Given the description of an element on the screen output the (x, y) to click on. 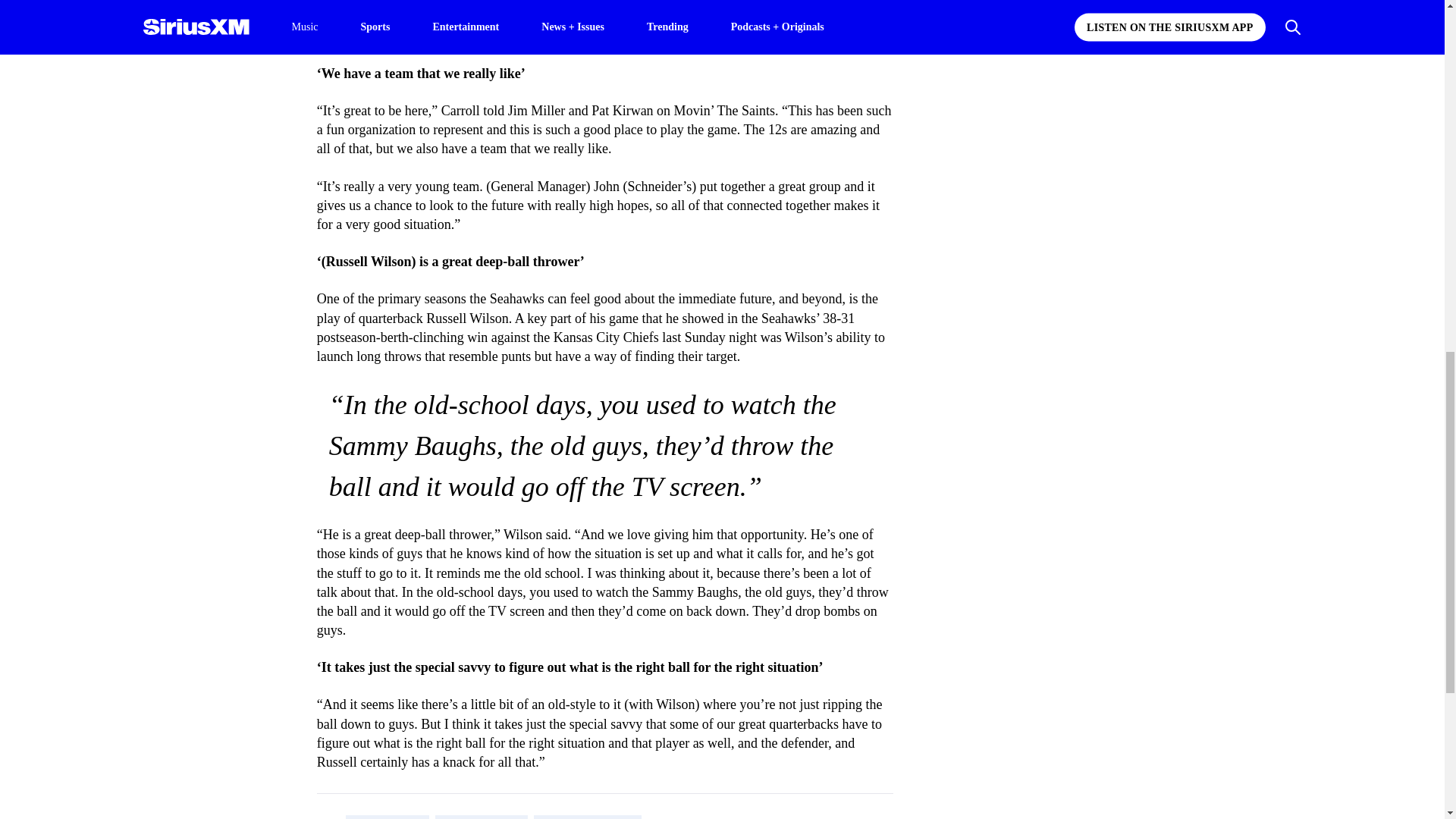
RUSSELL WILSON (481, 816)
SEATTLE SEAHAWKS (588, 816)
PETE CARROLL (387, 816)
